Given the description of an element on the screen output the (x, y) to click on. 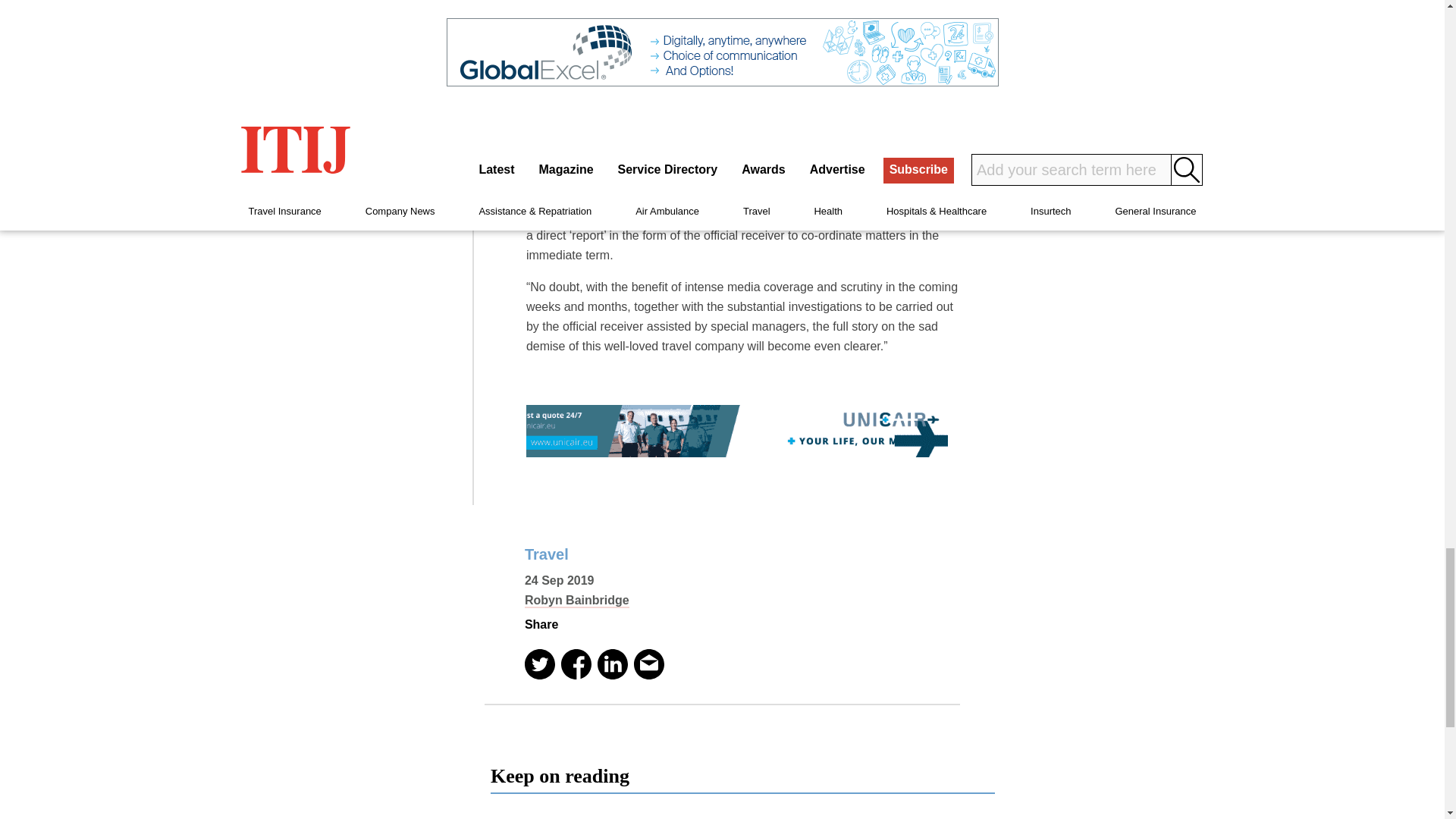
View information about this author (576, 600)
Share on Twitter (539, 664)
Share on Facebook (575, 664)
Send by email (648, 664)
Share on LinkedIn (611, 664)
